Given the description of an element on the screen output the (x, y) to click on. 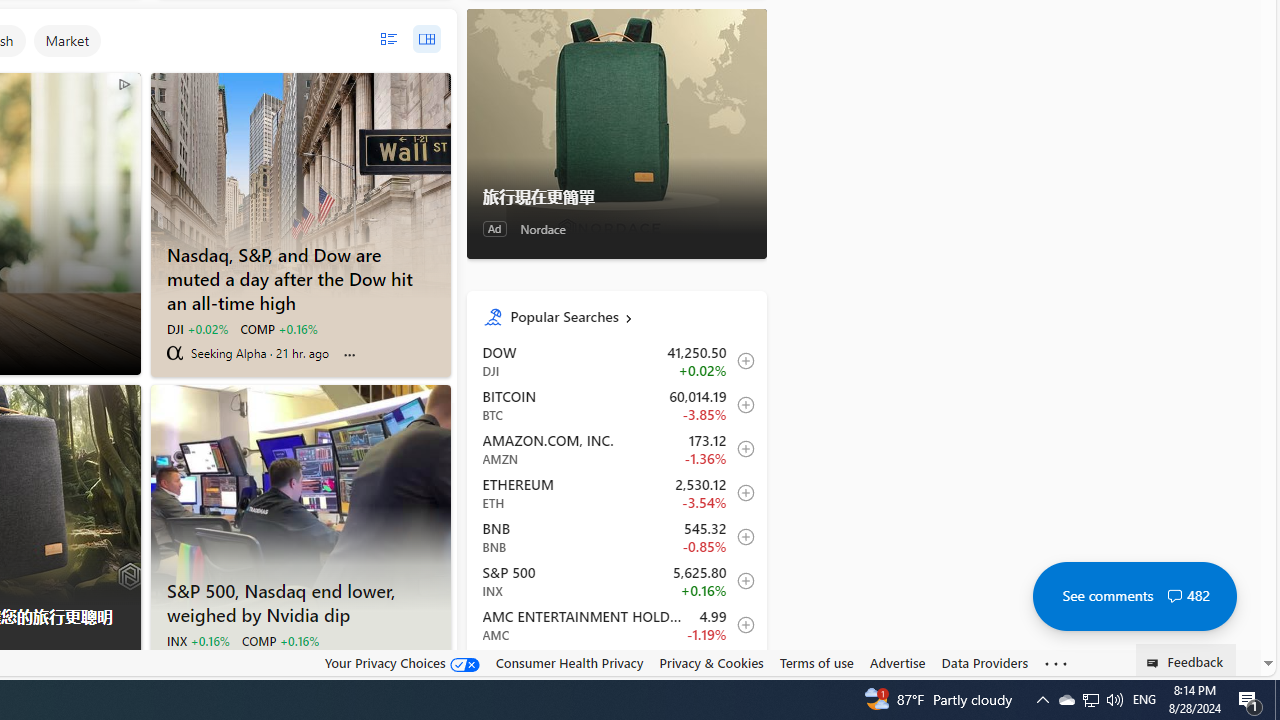
INX S&P 500 increase 5,625.80 +8.96 +0.16% itemundefined (615, 580)
Market (67, 40)
Advertise (897, 662)
S&P 500, Nasdaq end lower, weighed by Nvidia dip - Reuters (299, 497)
See comments 482 (1133, 596)
See more (1055, 664)
COMP +0.16% (279, 640)
Class: feedback_link_icon-DS-EntryPoint1-1 (1156, 663)
list layout (388, 39)
DJI +0.02% (196, 328)
Class: oneFooter_seeMore-DS-EntryPoint1-1 (1055, 663)
Consumer Health Privacy (569, 663)
